Given the description of an element on the screen output the (x, y) to click on. 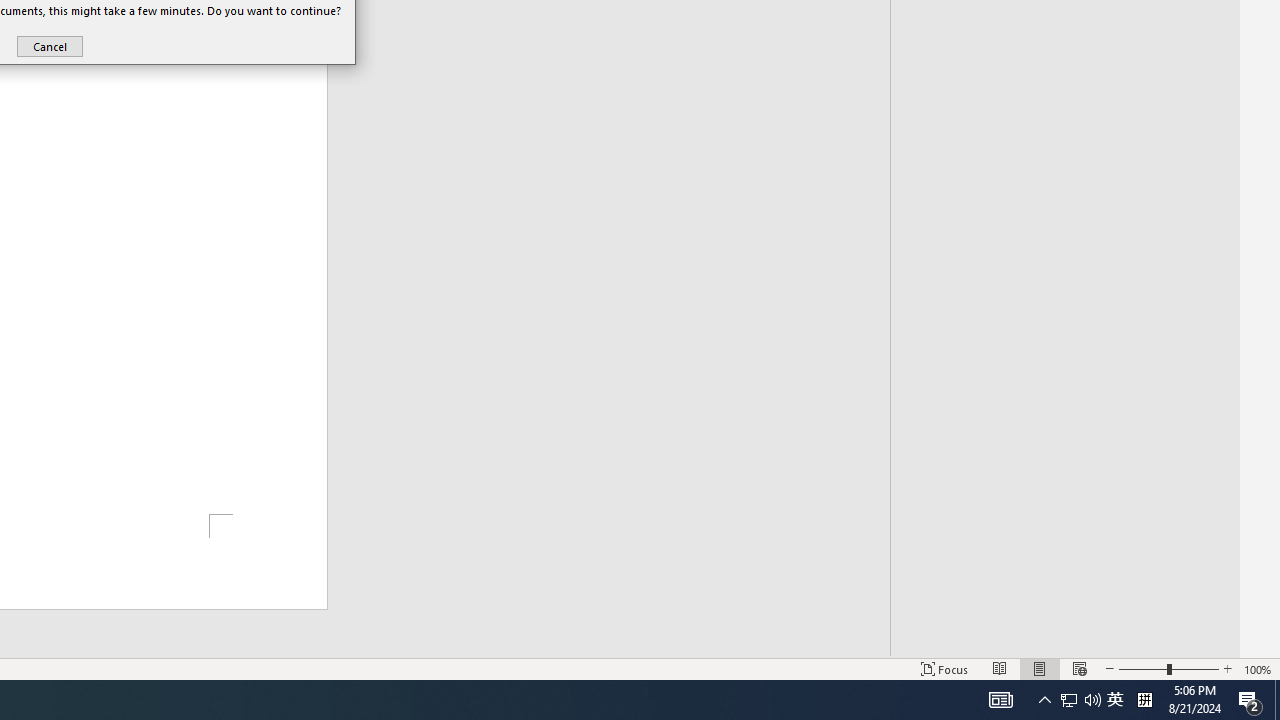
AutomationID: 4105 (1069, 699)
Action Center, 2 new notifications (1000, 699)
User Promoted Notification Area (1250, 699)
Q2790: 100% (1080, 699)
Show desktop (1092, 699)
Notification Chevron (1277, 699)
Cancel (1044, 699)
Tray Input Indicator - Chinese (Simplified, China) (49, 46)
